Given the description of an element on the screen output the (x, y) to click on. 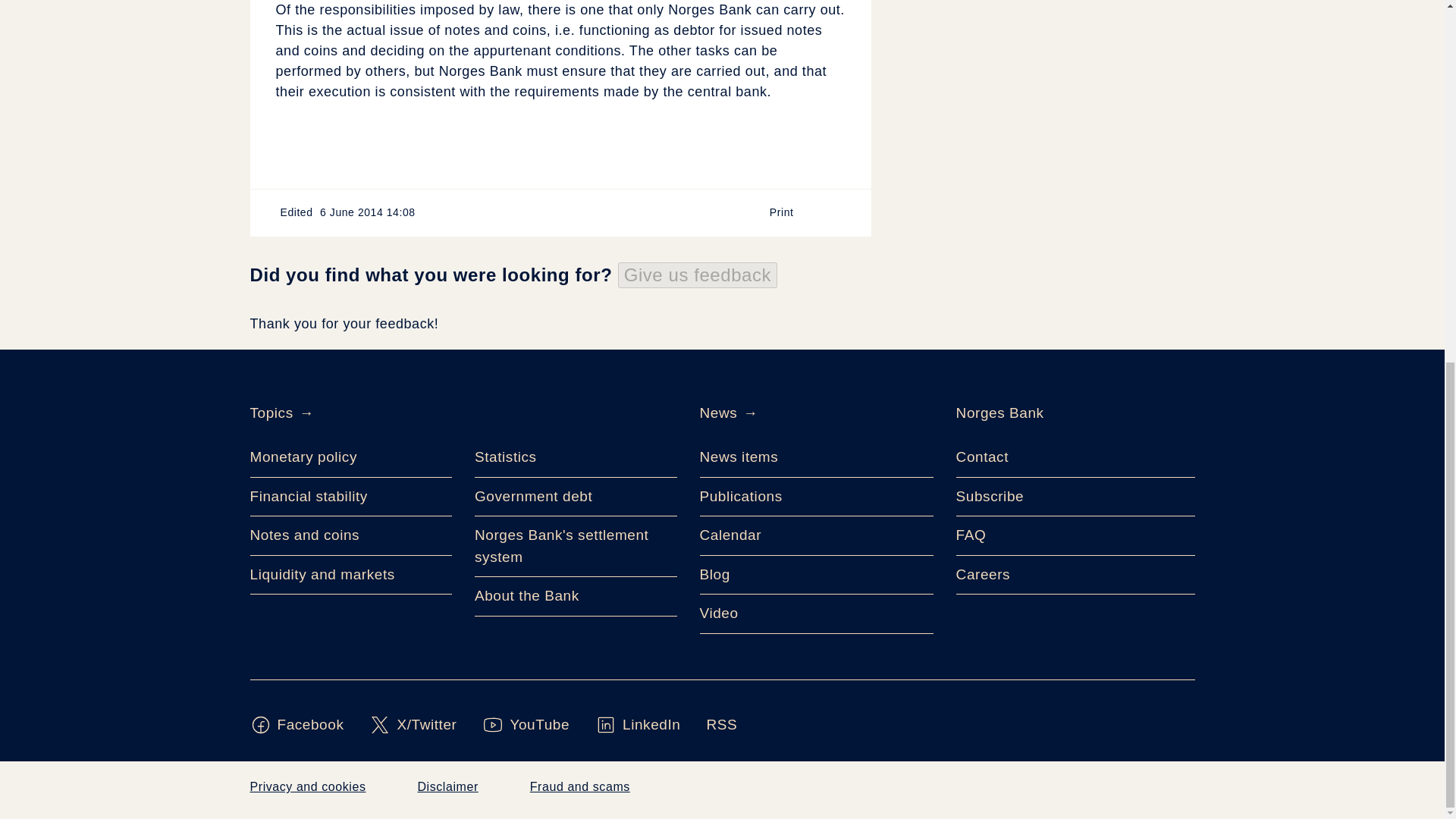
Video (815, 613)
About the Bank (575, 596)
News items (815, 457)
Calendar (815, 536)
Publications (815, 496)
News (717, 413)
Liquidity and markets (351, 575)
Topics (272, 413)
Norges Bank's settlement system (575, 546)
Give us feedback (697, 275)
